Given the description of an element on the screen output the (x, y) to click on. 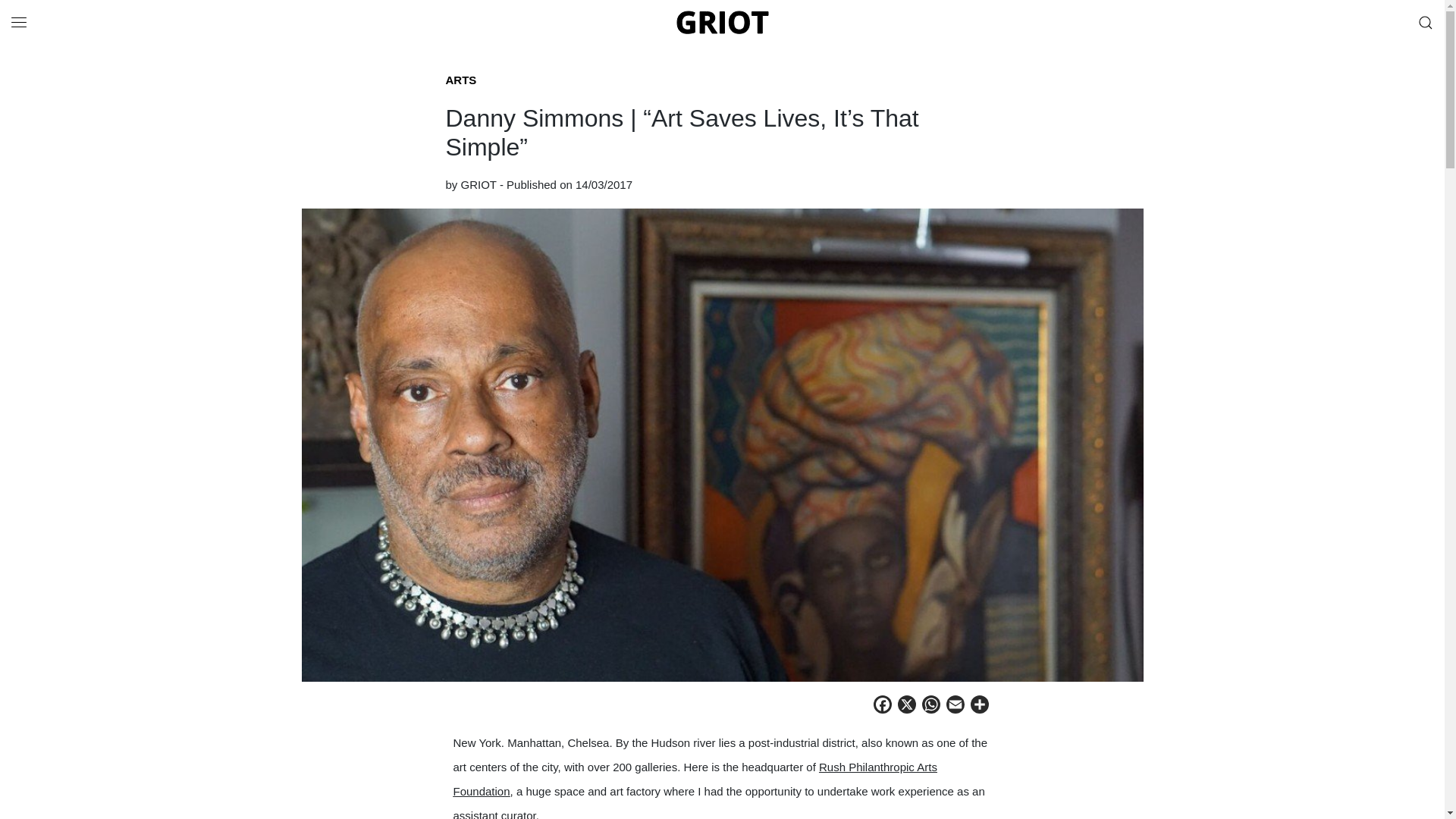
X (906, 707)
ARTS (461, 79)
WhatsApp (930, 707)
GRIOT (721, 22)
GRIOT (478, 184)
Facebook (882, 707)
Email (955, 707)
GRIOT (721, 21)
X (906, 707)
Rush Philanthropic Arts Foundation (694, 778)
